Given the description of an element on the screen output the (x, y) to click on. 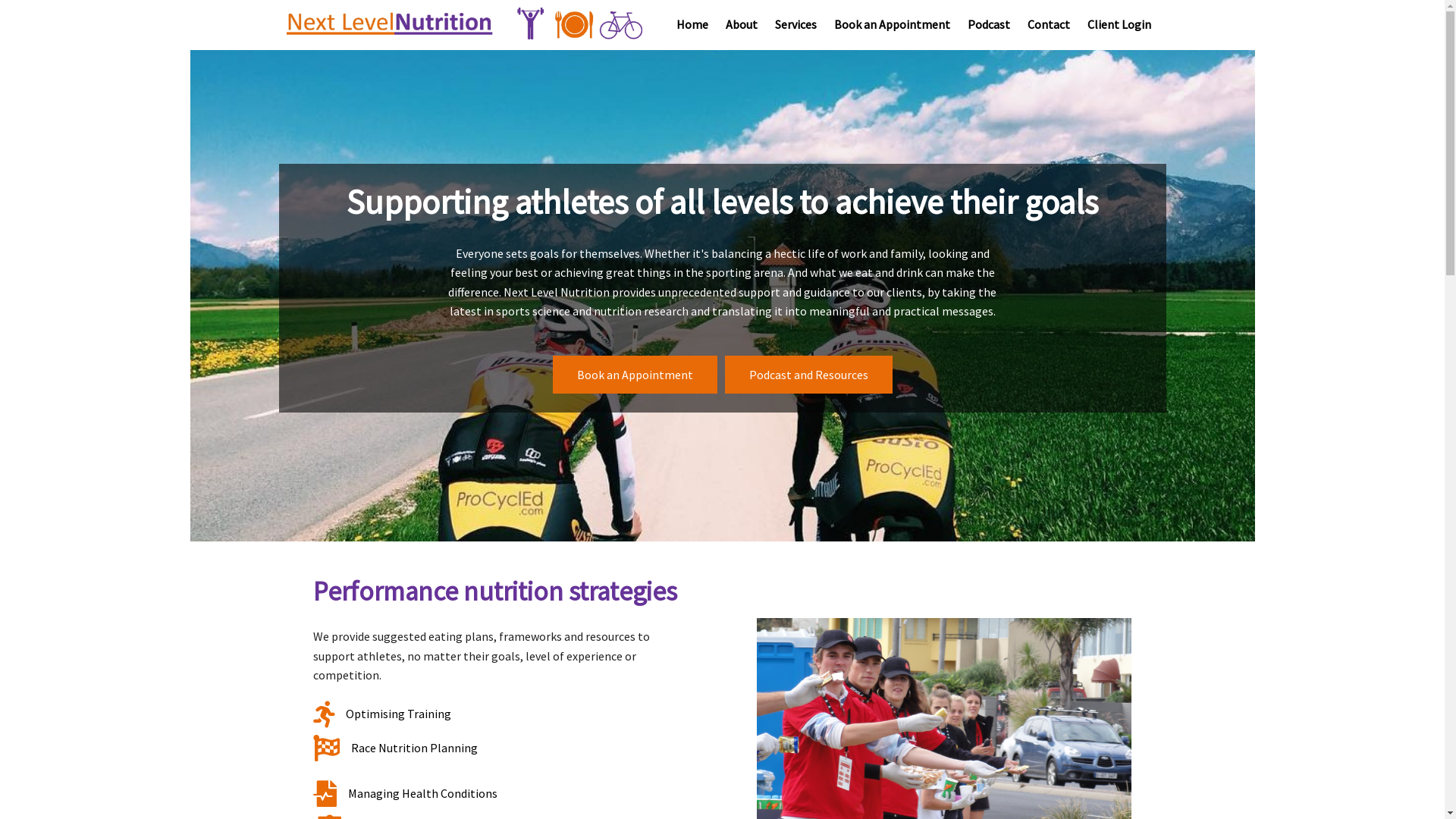
Home Element type: text (691, 24)
Services Element type: text (795, 24)
Book an Appointment Element type: text (634, 374)
Contact Element type: text (1048, 24)
NLN Logo1 Element type: hover (464, 23)
Podcast Element type: text (988, 24)
Client Login Element type: text (1118, 24)
Book an Appointment Element type: text (891, 24)
About Element type: text (741, 24)
Podcast and Resources Element type: text (808, 374)
